Given the description of an element on the screen output the (x, y) to click on. 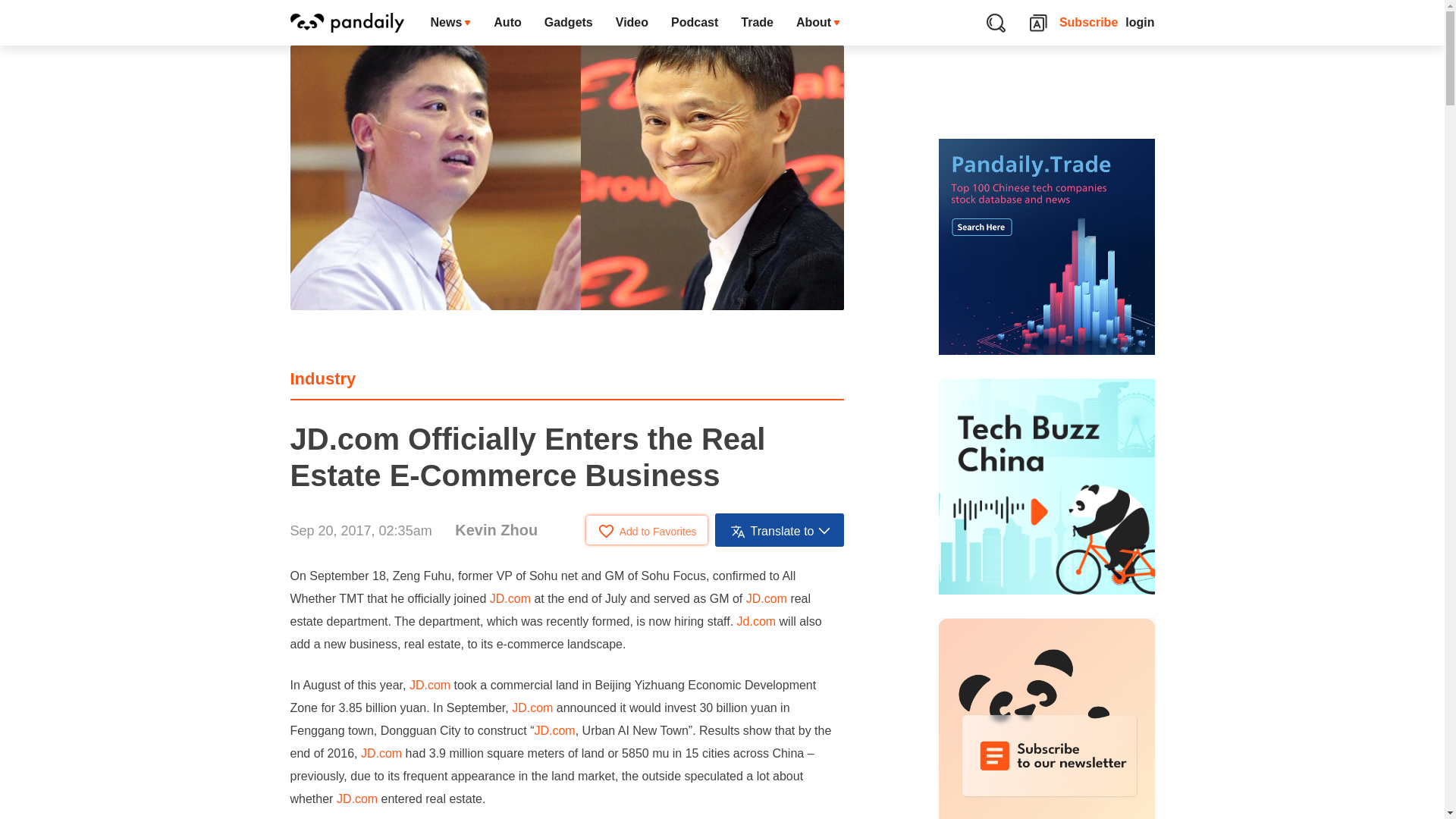
Auto (506, 22)
JD.com (510, 598)
News (450, 22)
JD.com (766, 598)
Subscribe (1088, 22)
Gadgets (568, 22)
Sep 20, 2017, 02:35am (359, 530)
Trade (756, 22)
Kevin Zhou (495, 529)
Podcast (694, 22)
